Given the description of an element on the screen output the (x, y) to click on. 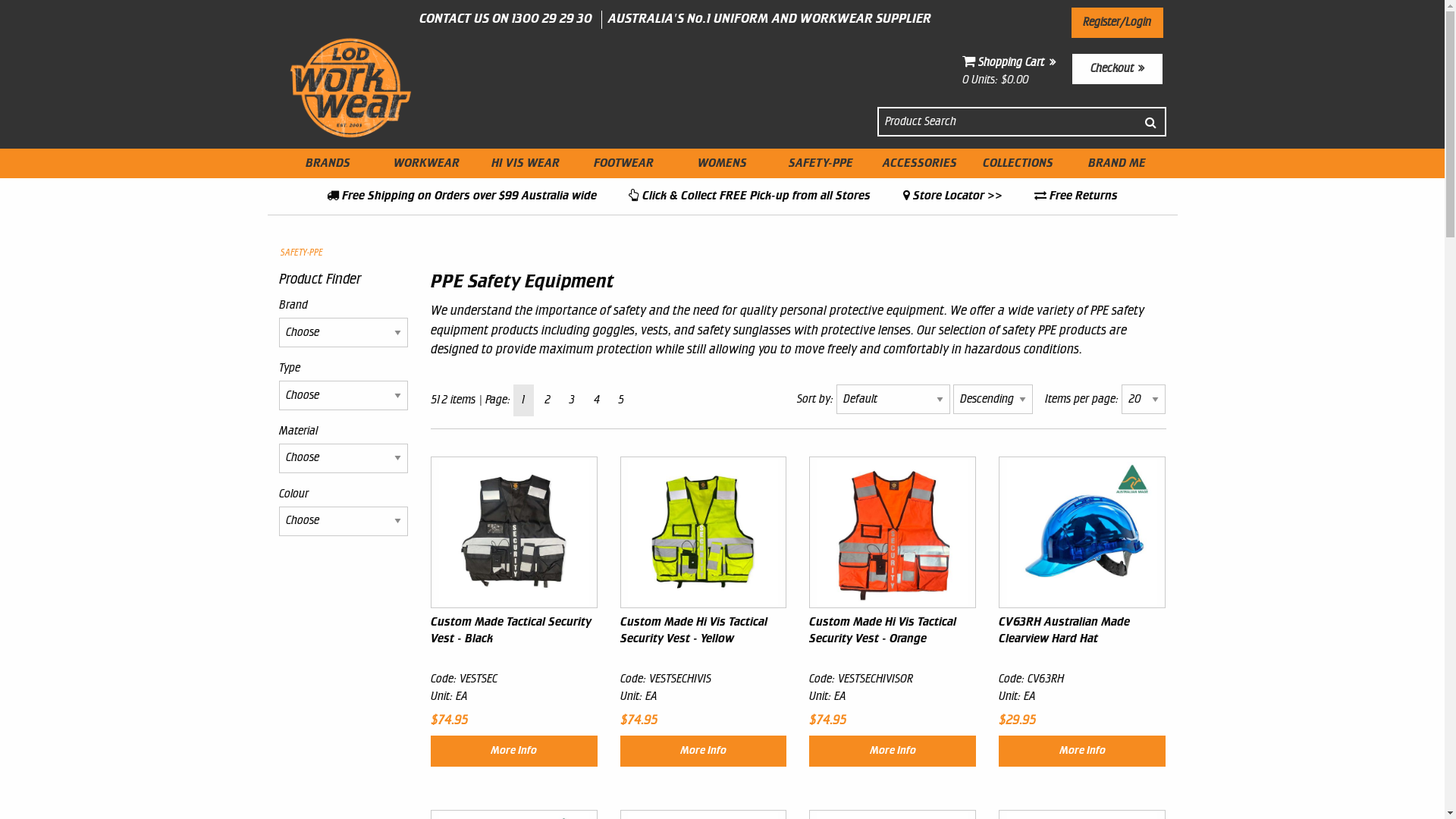
More Info Element type: text (513, 750)
SAFETY-PPE Element type: text (820, 162)
COLLECTIONS Element type: text (1018, 162)
Click & Collect FREE Pick-up from all Stores Element type: text (749, 195)
HI VIS WEAR Element type: text (525, 162)
Store Locator >> Element type: text (952, 195)
CV63RH Australian Made Clearview Hard Hat Element type: text (1081, 631)
SAFETY-PPE Element type: text (301, 253)
More Info Element type: text (1081, 750)
WOMENS Element type: text (722, 162)
More Info Element type: text (892, 750)
Free Returns Element type: text (1075, 195)
WORKWEAR Element type: text (426, 162)
3 Element type: text (571, 400)
Register/Login Element type: text (1117, 22)
FOOTWEAR Element type: text (623, 162)
Custom Made Hi Vis Tactical Security Vest - Yellow Element type: text (703, 631)
5 Element type: text (620, 400)
Free Shipping on Orders over $99 Australia wide Element type: text (461, 195)
Shopping Cart Element type: text (1008, 62)
2 Element type: text (547, 400)
4 Element type: text (596, 400)
More Info Element type: text (703, 750)
ACCESSORIES Element type: text (919, 162)
Custom Made Tactical Security Vest - Black Element type: text (513, 631)
BRAND ME Element type: text (1116, 162)
Custom Made Hi Vis Tactical Security Vest - Orange Element type: text (892, 631)
Checkout Element type: text (1117, 68)
BRANDS Element type: text (328, 162)
